Given the description of an element on the screen output the (x, y) to click on. 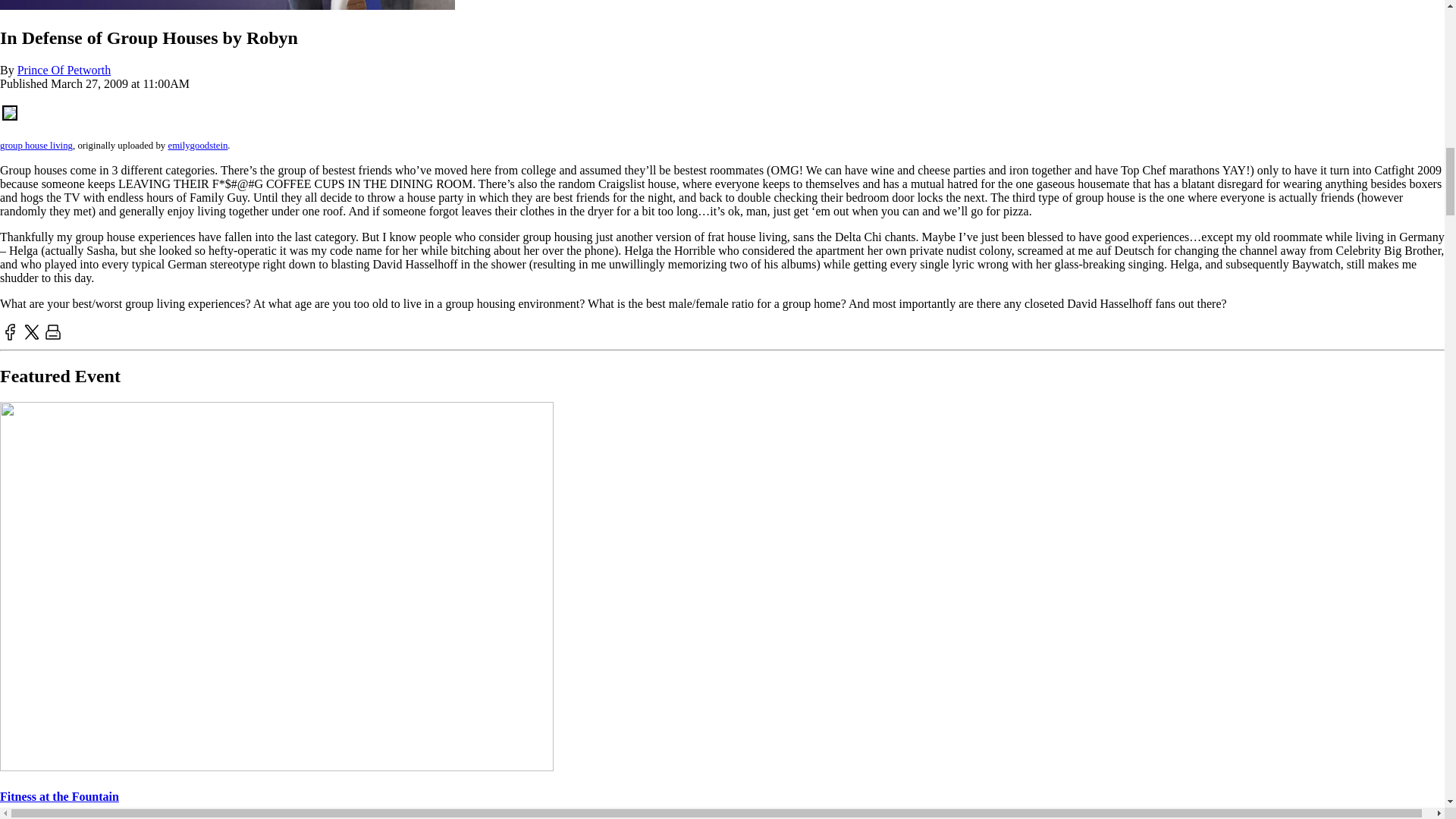
photo sharing (9, 115)
Remarkable People Like You PoPville (227, 6)
